Given the description of an element on the screen output the (x, y) to click on. 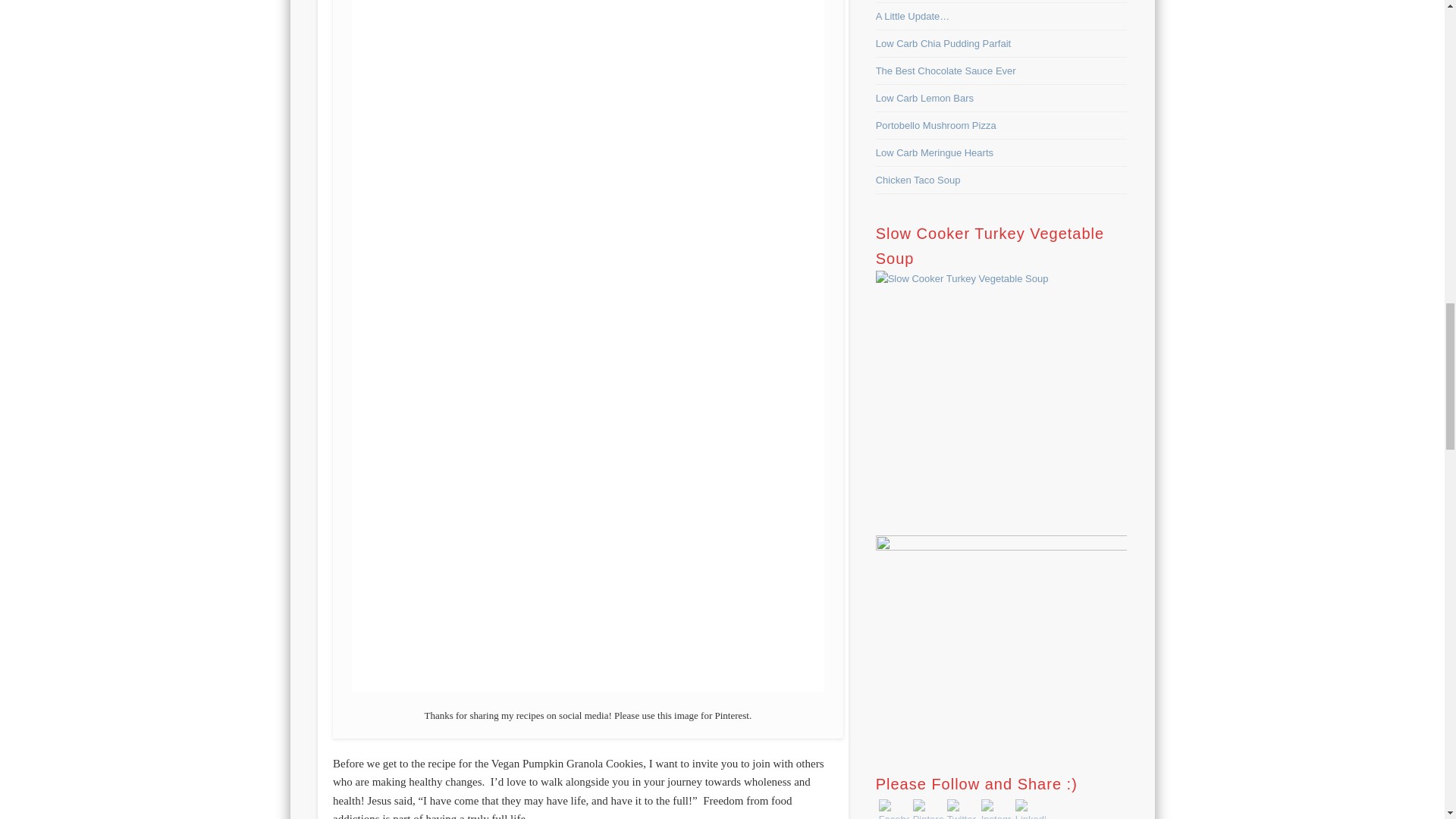
Egg Salad (962, 278)
Pinterest (927, 809)
Twitter (961, 809)
Facebook (893, 809)
